Given the description of an element on the screen output the (x, y) to click on. 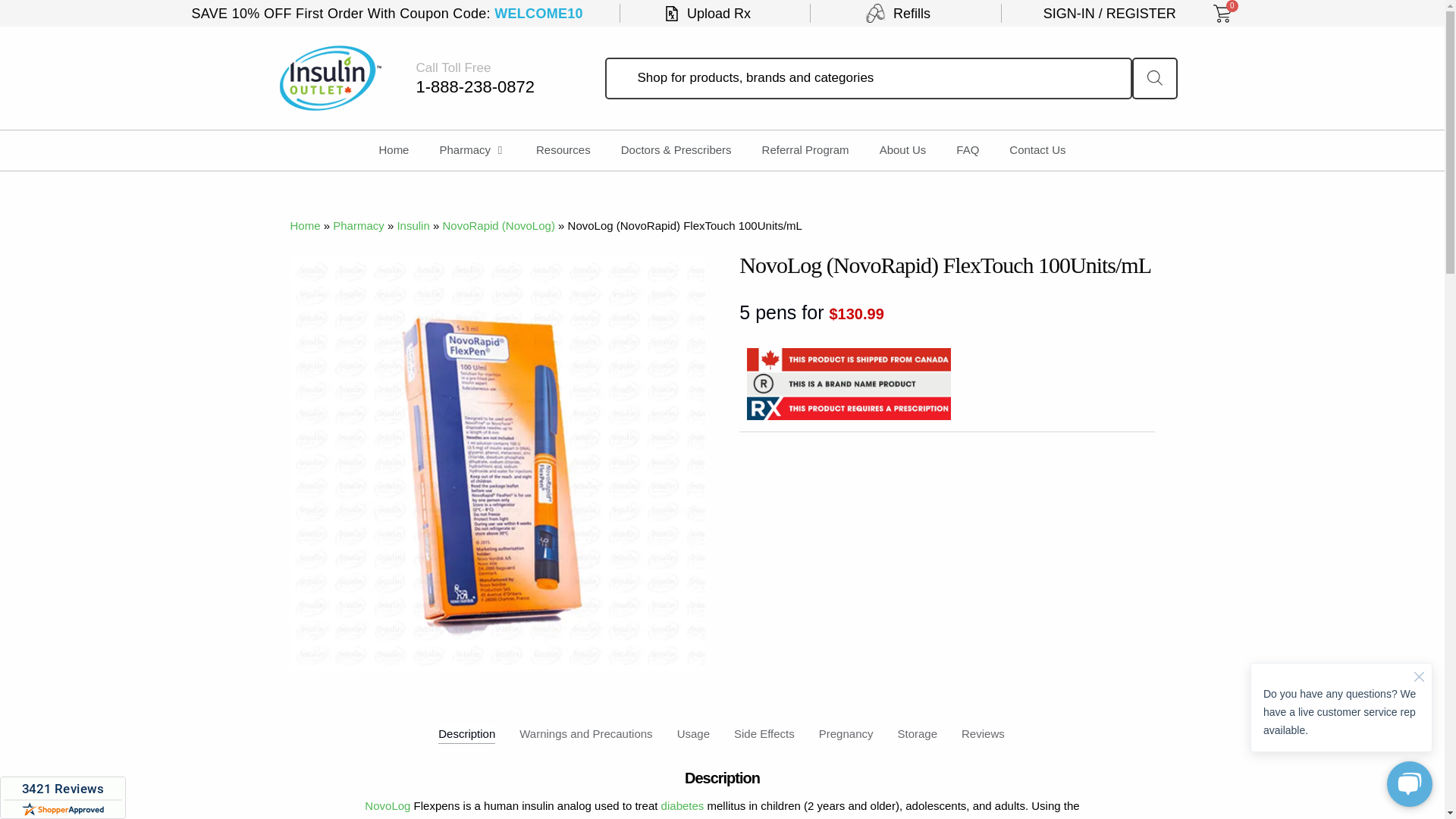
Refills (898, 13)
Resources (563, 149)
FAQ (967, 149)
Home (393, 149)
About Us (902, 149)
Contact Us (1037, 149)
Pharmacy (464, 149)
Upload Rx (707, 13)
1-888-238-0872 (474, 86)
Referral Program (804, 149)
